Given the description of an element on the screen output the (x, y) to click on. 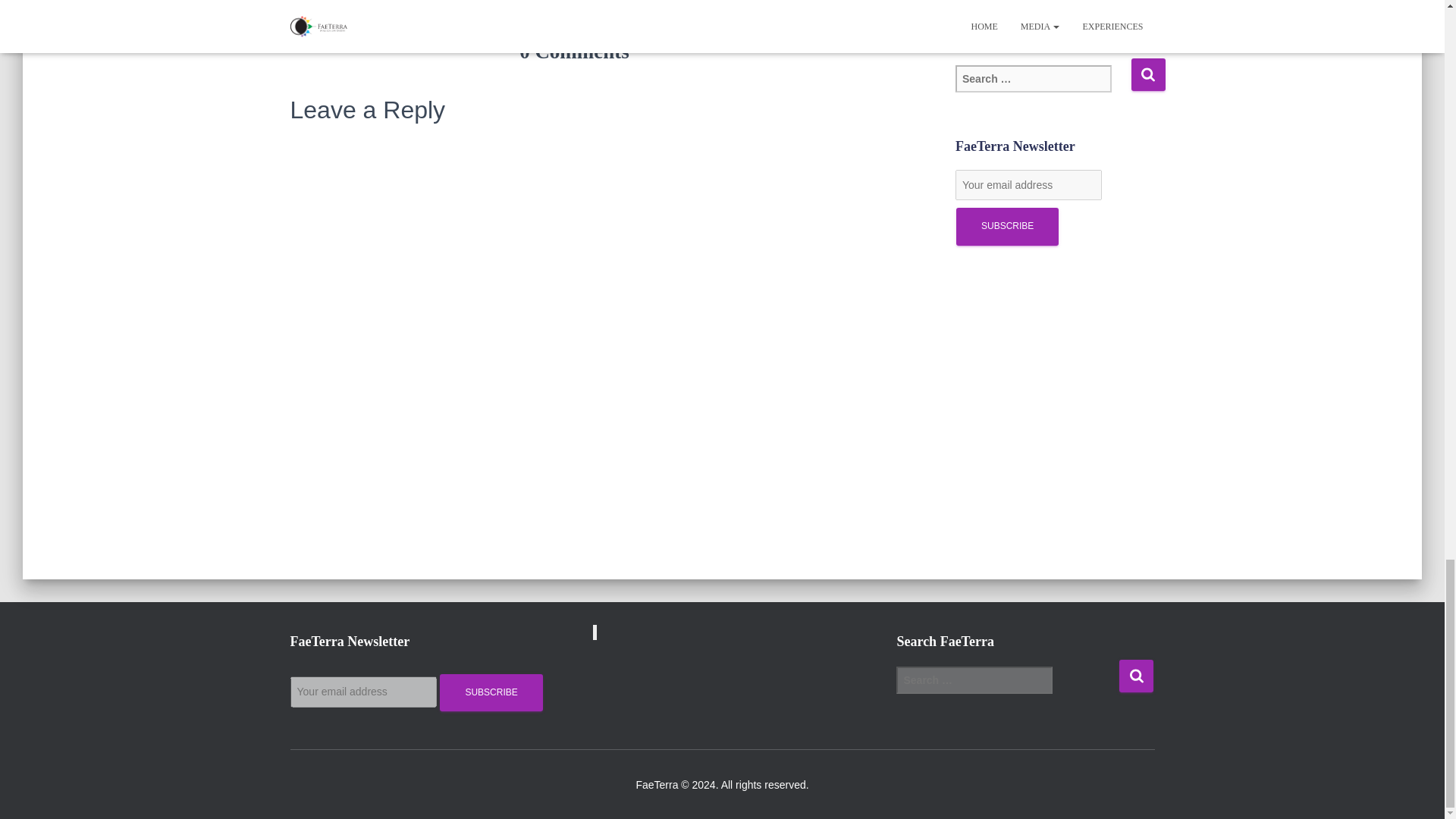
Search (1136, 676)
Subscribe (490, 692)
Subscribe (1007, 226)
Search (1136, 676)
Search (1136, 676)
Subscribe (1007, 226)
Search (1148, 74)
Subscribe (490, 692)
Search (1148, 74)
Search (1148, 74)
